Given the description of an element on the screen output the (x, y) to click on. 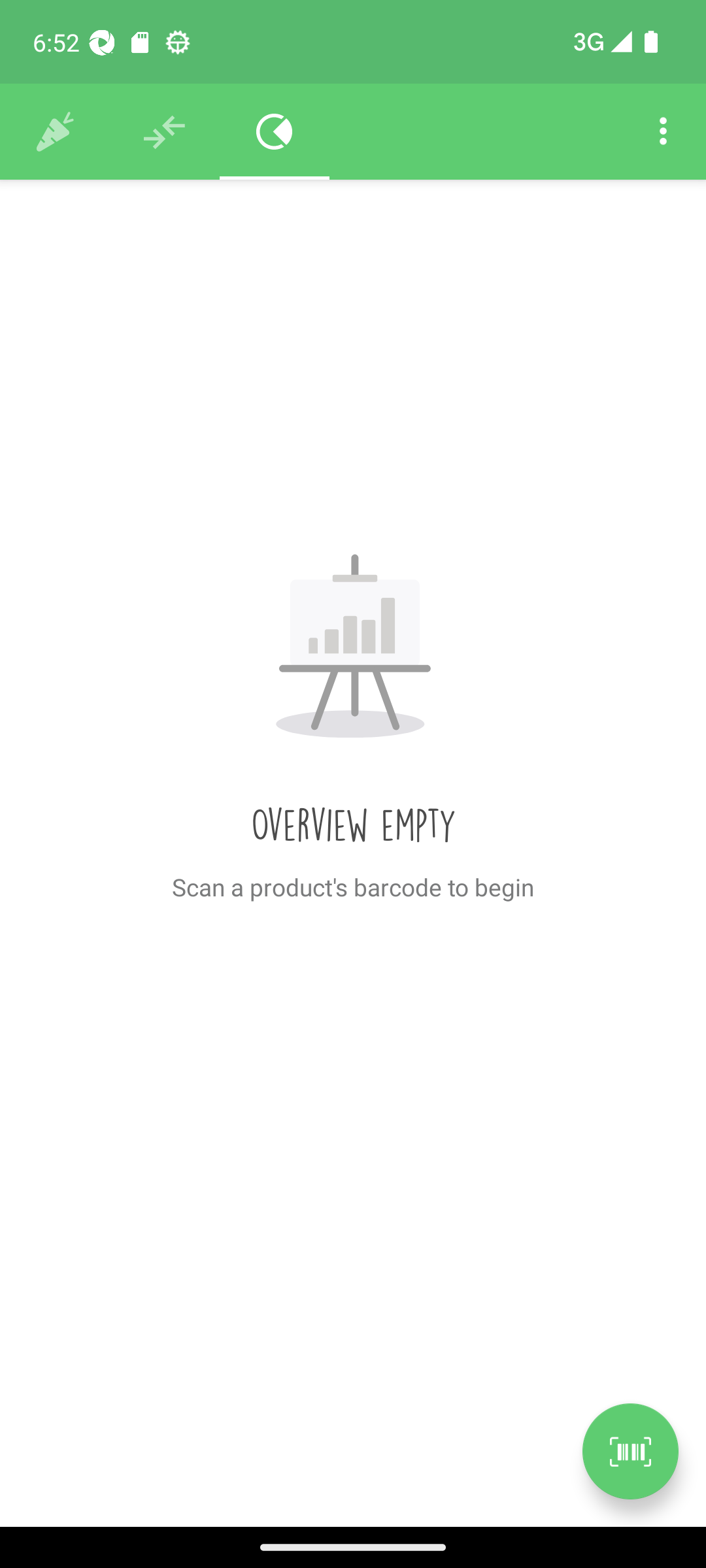
History (55, 131)
Recommendations (164, 131)
Settings (663, 131)
Scan a product (630, 1451)
